Given the description of an element on the screen output the (x, y) to click on. 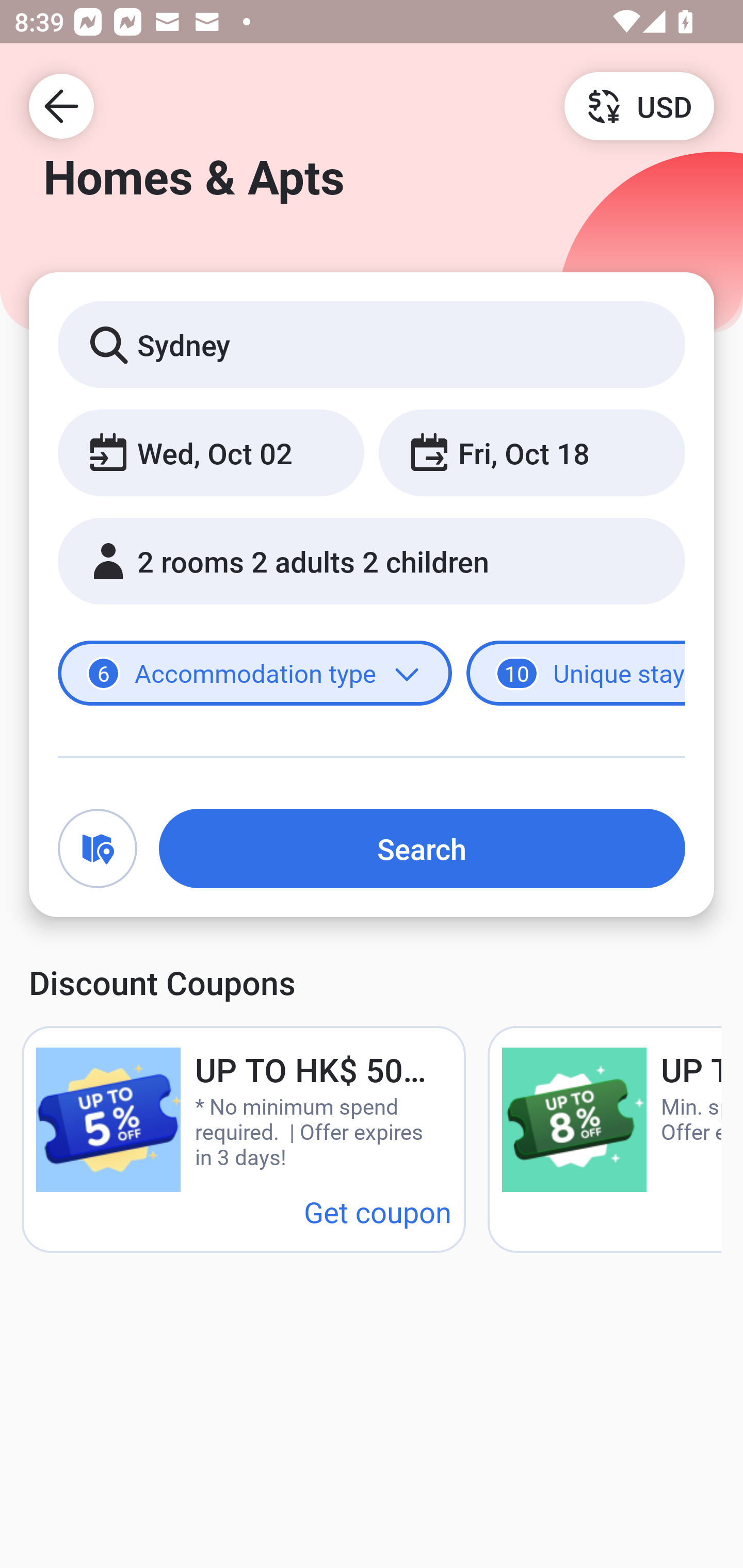
USD (639, 105)
Sydney (371, 344)
Wed, Oct 02 (210, 452)
Fri, Oct 18 (531, 452)
2 rooms 2 adults 2 children (371, 561)
6 Accommodation type (254, 673)
10 Unique stays (575, 673)
Search (422, 848)
Get coupon (377, 1211)
